Given the description of an element on the screen output the (x, y) to click on. 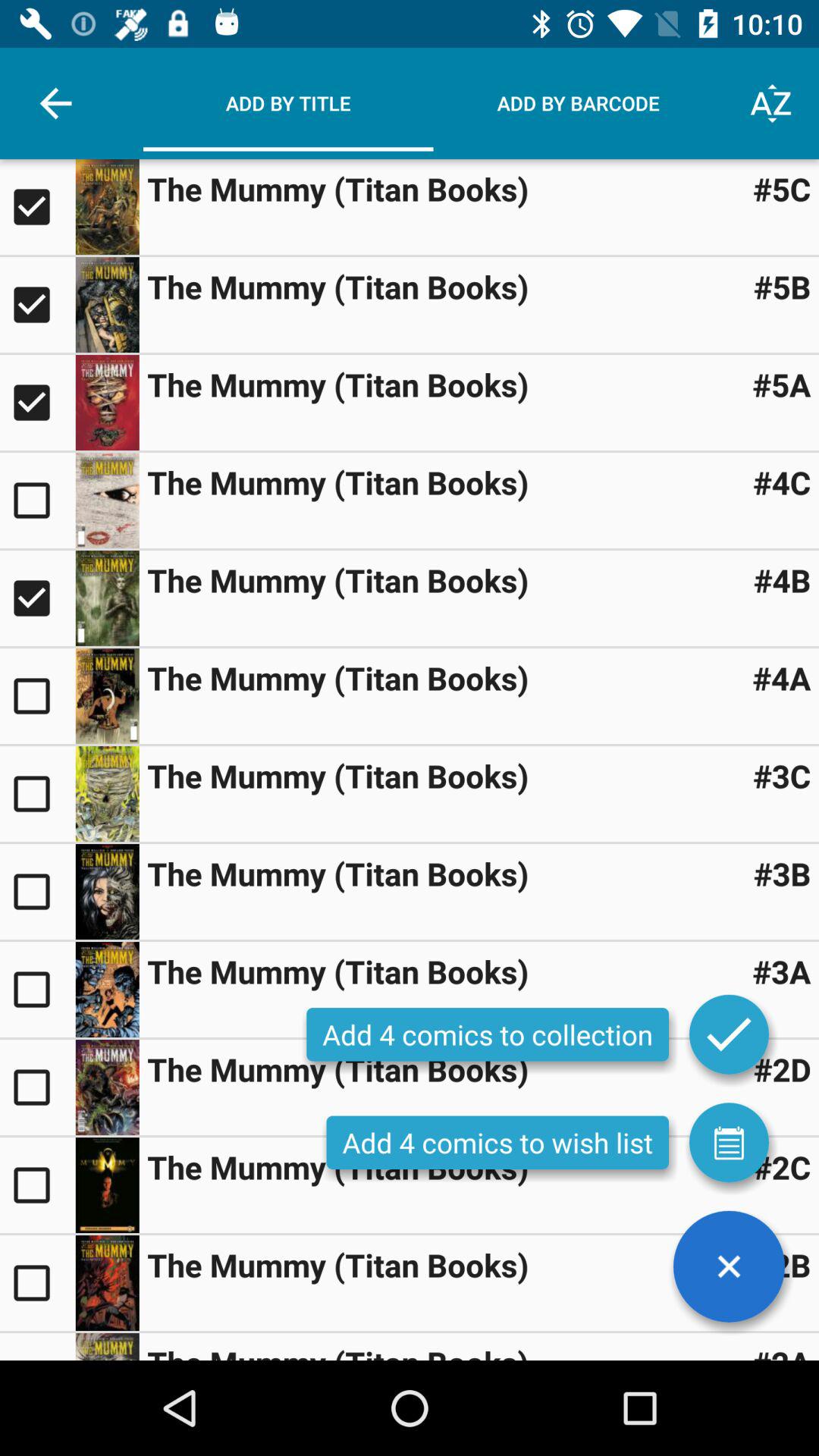
select icon to the left of the the mummy titan (55, 103)
